Given the description of an element on the screen output the (x, y) to click on. 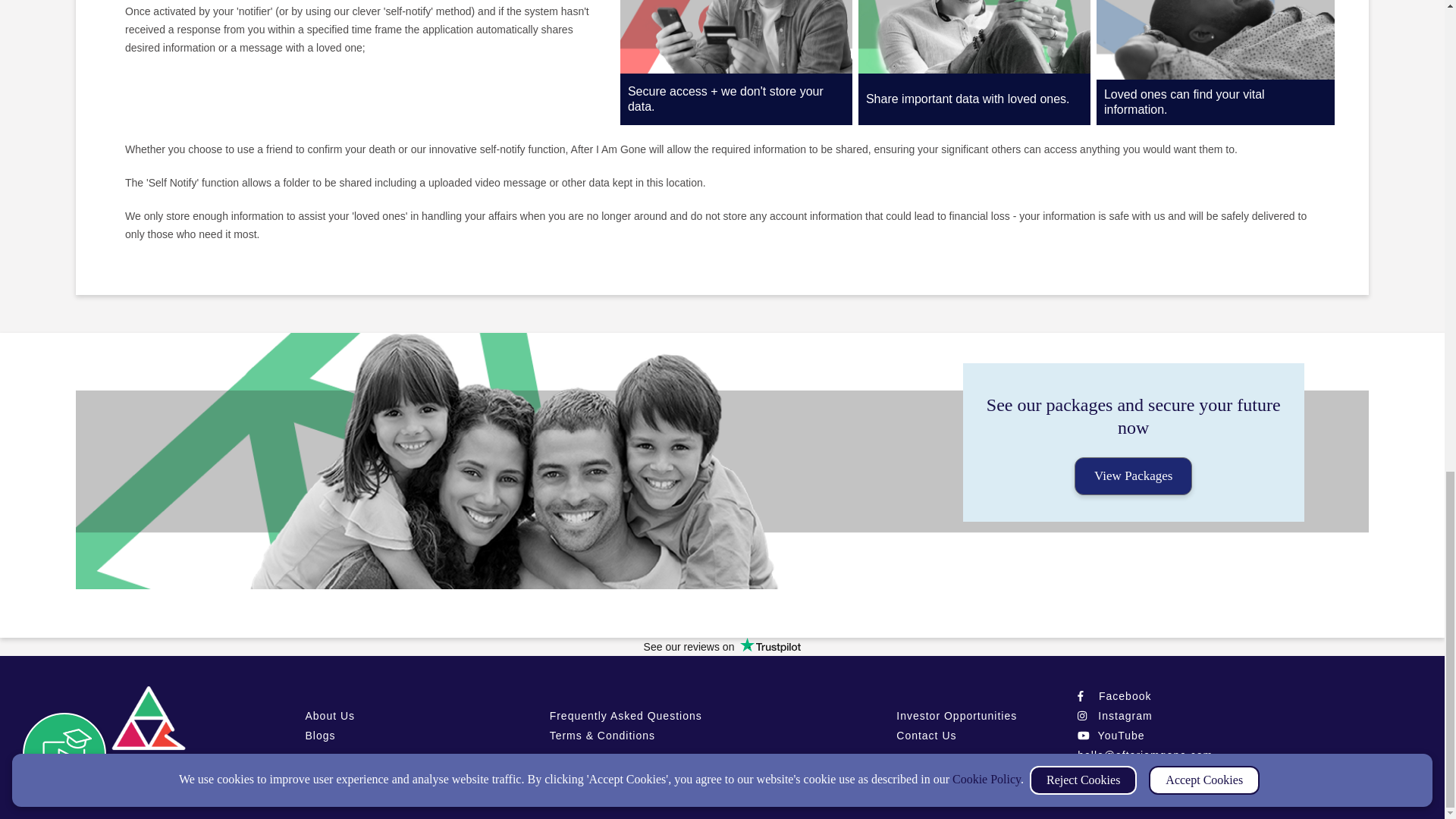
Frequently Asked Questions (625, 715)
YouTube (1110, 735)
Blogs (319, 735)
View Packages (1133, 476)
About Us (329, 715)
Facebook (1114, 695)
Contact Us (926, 735)
Instagram (1114, 715)
Investor Opportunities (956, 715)
